Given the description of an element on the screen output the (x, y) to click on. 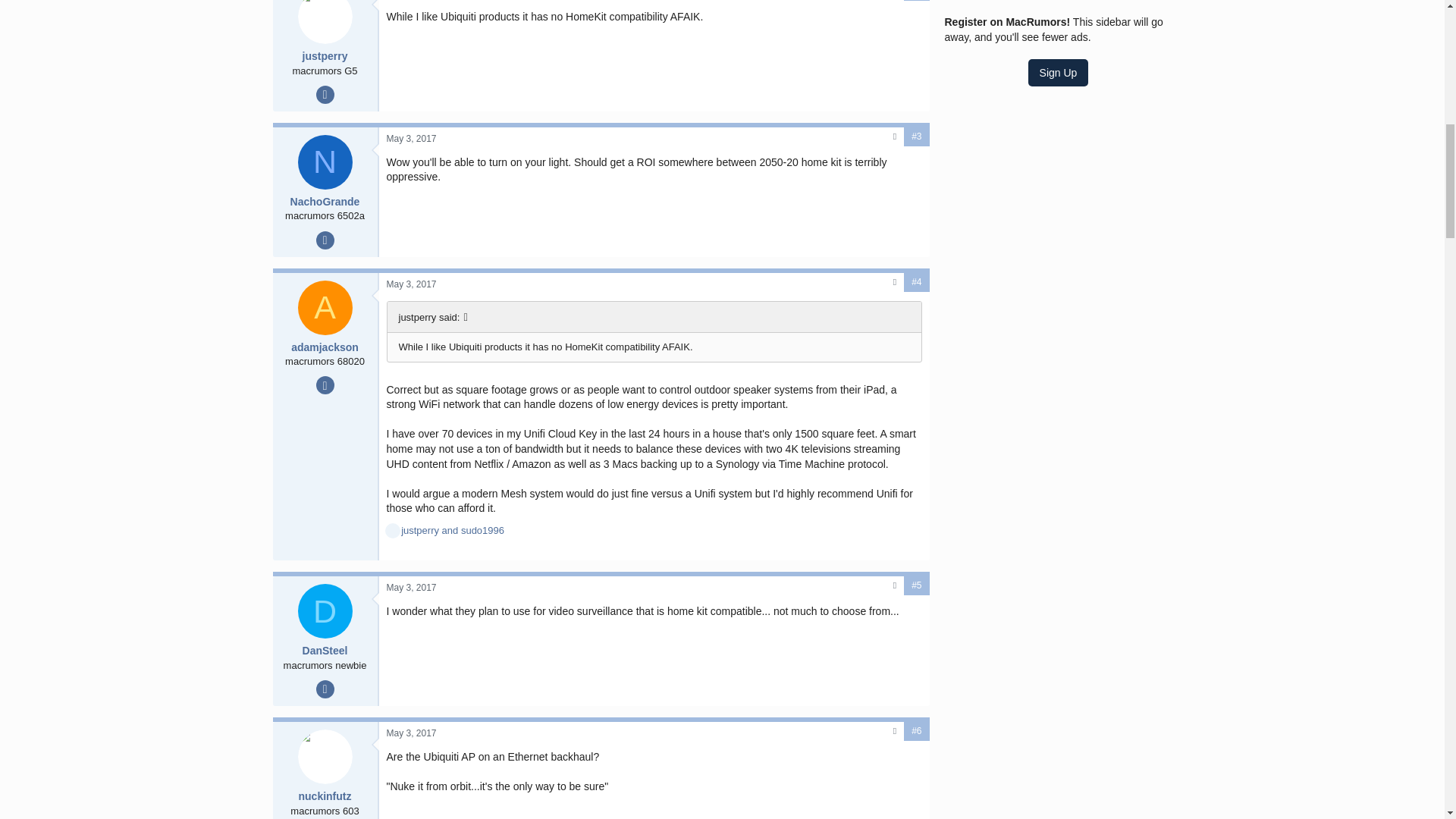
May 3, 2017 at 12:24 PM (411, 284)
May 3, 2017 at 2:17 PM (411, 733)
Like (392, 530)
May 3, 2017 at 12:44 PM (411, 587)
May 3, 2017 at 10:47 AM (411, 138)
